Given the description of an element on the screen output the (x, y) to click on. 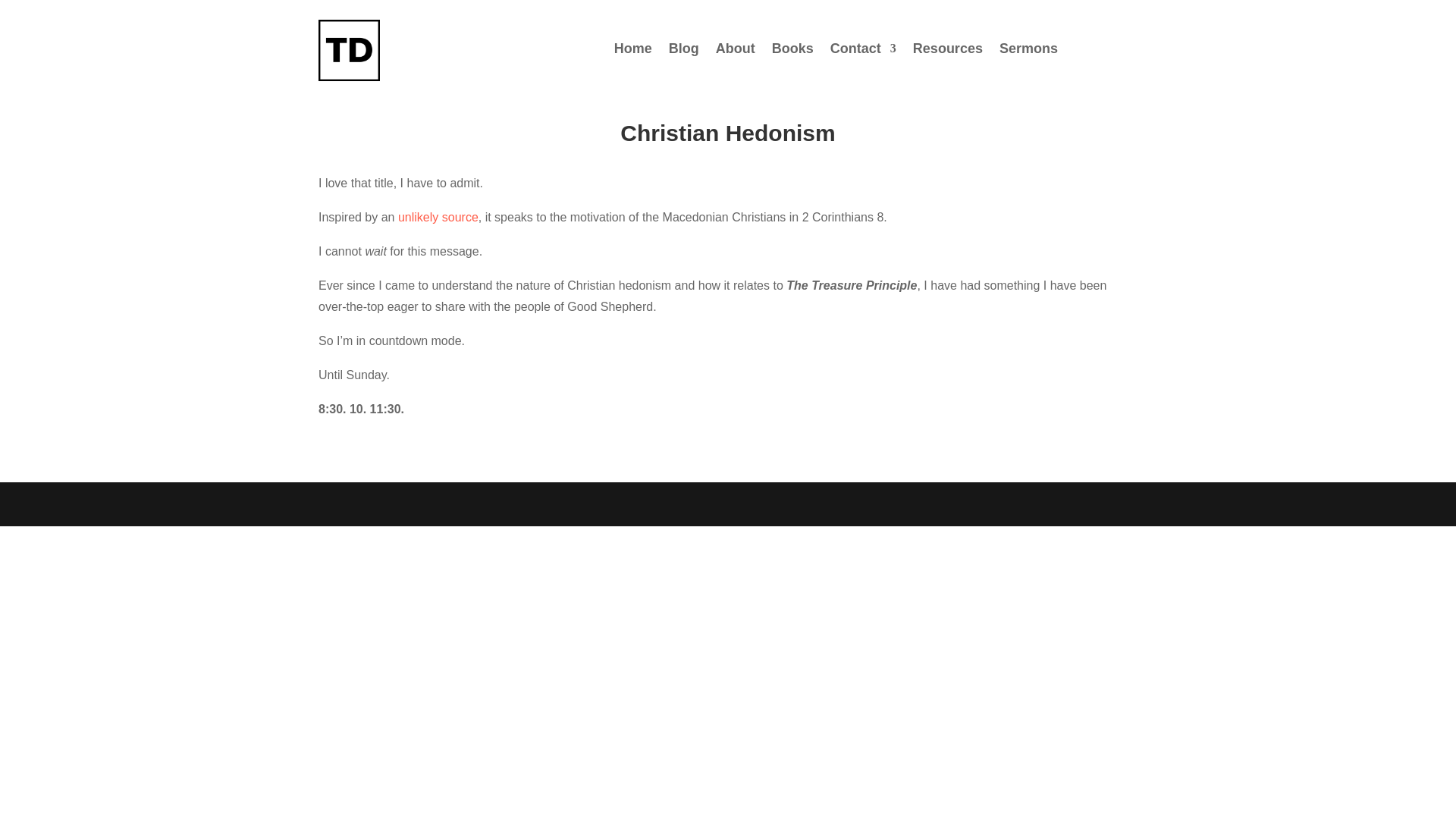
Contact (862, 51)
About (735, 51)
Blog (683, 51)
Home (633, 51)
Books (792, 51)
Resources (947, 51)
Sermons (1028, 51)
td-logo (349, 50)
unlikely source (438, 216)
